Given the description of an element on the screen output the (x, y) to click on. 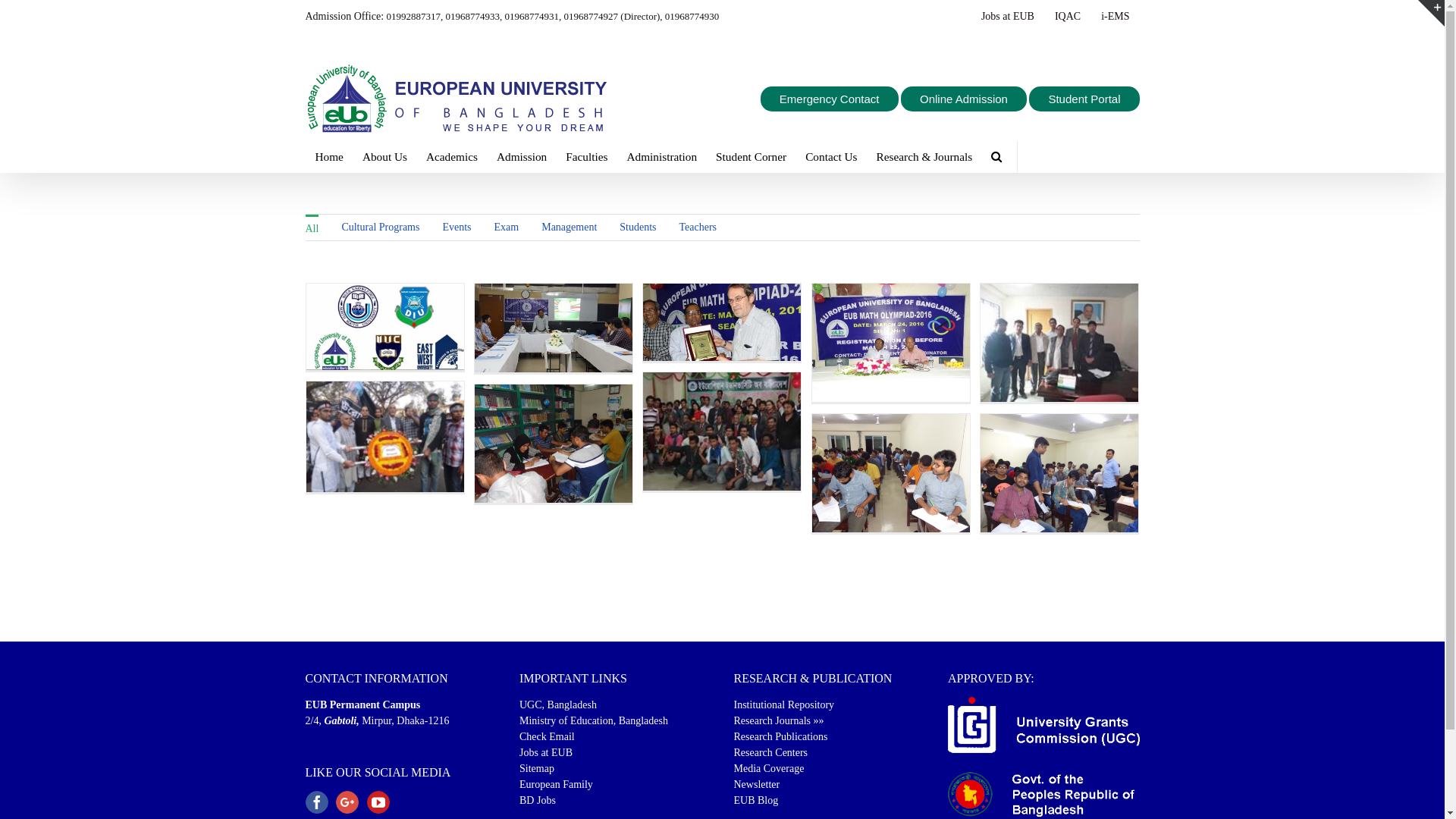
Management Element type: text (568, 227)
Ministry of Education, Bangladesh Element type: text (593, 720)
Check Email Element type: text (546, 736)
Events Element type: text (456, 227)
Students Element type: text (637, 227)
Teachers Element type: text (698, 227)
Admission Element type: text (523, 156)
Contact Us Element type: text (830, 156)
Student Portal Element type: text (1086, 99)
i-EMS Element type: text (1117, 16)
Jobs at EUB Element type: text (1009, 16)
Online Admission Element type: text (967, 99)
Research Publications Element type: text (781, 736)
European Family Element type: text (556, 784)
IQAC Element type: text (1069, 16)
Home Element type: text (330, 156)
All Element type: text (311, 227)
About Us Element type: text (386, 156)
Media Coverage Element type: text (769, 768)
Research Centers Element type: text (771, 752)
Jobs at EUB Element type: text (545, 752)
Emergency Contact Element type: text (831, 98)
Emergency Contact Element type: text (832, 99)
Exam Element type: text (506, 227)
EUB Blog Element type: text (756, 800)
Cultural Programs Element type: text (380, 227)
Sitemap Element type: text (536, 768)
Institutional Repository Element type: text (784, 704)
Newsletter Element type: text (757, 784)
Student Corner Element type: text (750, 156)
Faculties Element type: text (588, 156)
Academics Element type: text (454, 156)
Administration Element type: text (661, 156)
Student Portal Element type: text (1086, 98)
BD Jobs Element type: text (537, 800)
UGC, Bangladesh Element type: text (557, 704)
Online Admission Element type: text (966, 98)
Research & Journals Element type: text (924, 156)
